Given the description of an element on the screen output the (x, y) to click on. 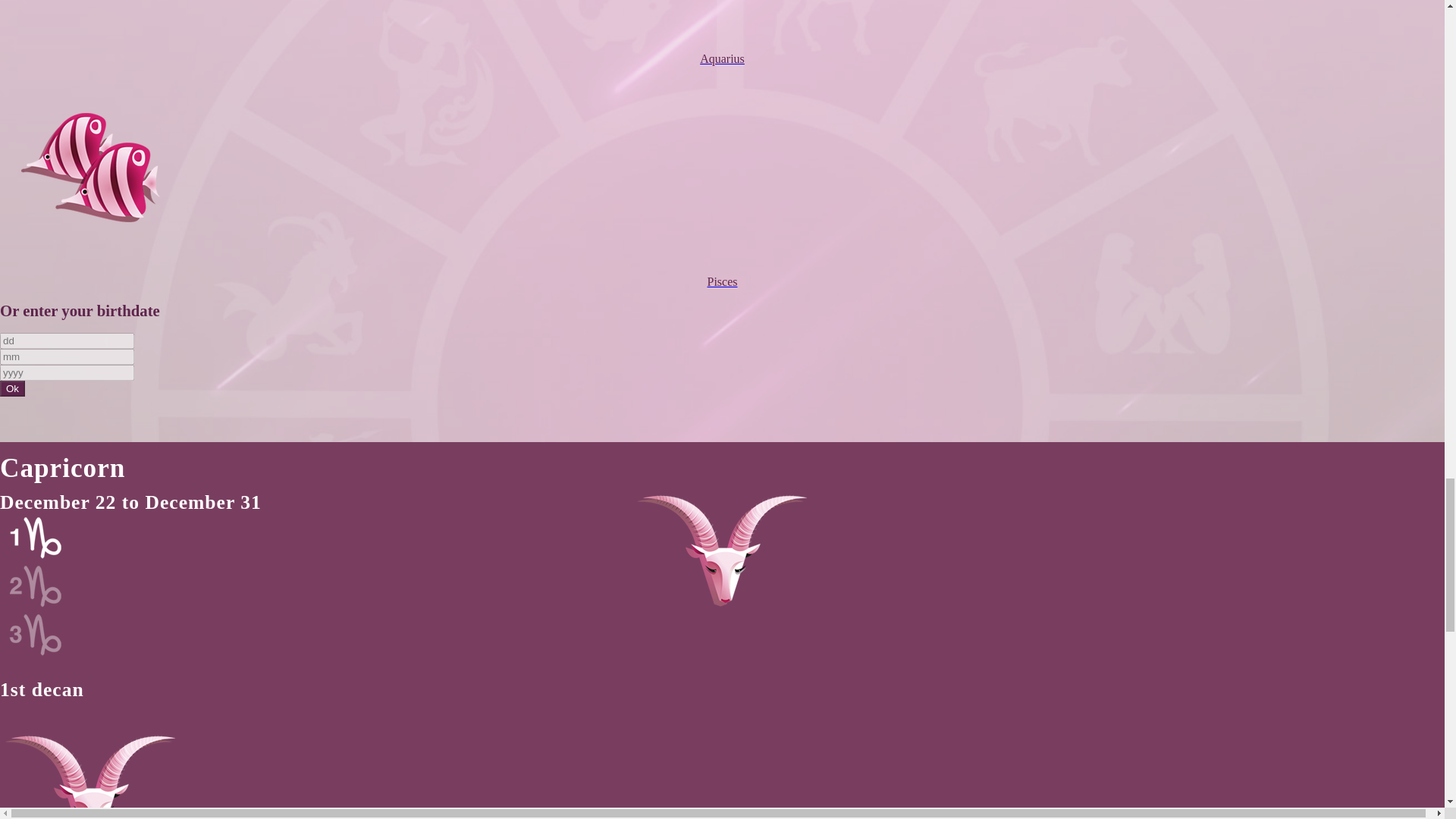
Ok (12, 388)
Pisces (722, 268)
Show decan 3 (39, 652)
Show decan 1 (39, 554)
Aquarius (722, 45)
Show decan 2 (39, 603)
